Given the description of an element on the screen output the (x, y) to click on. 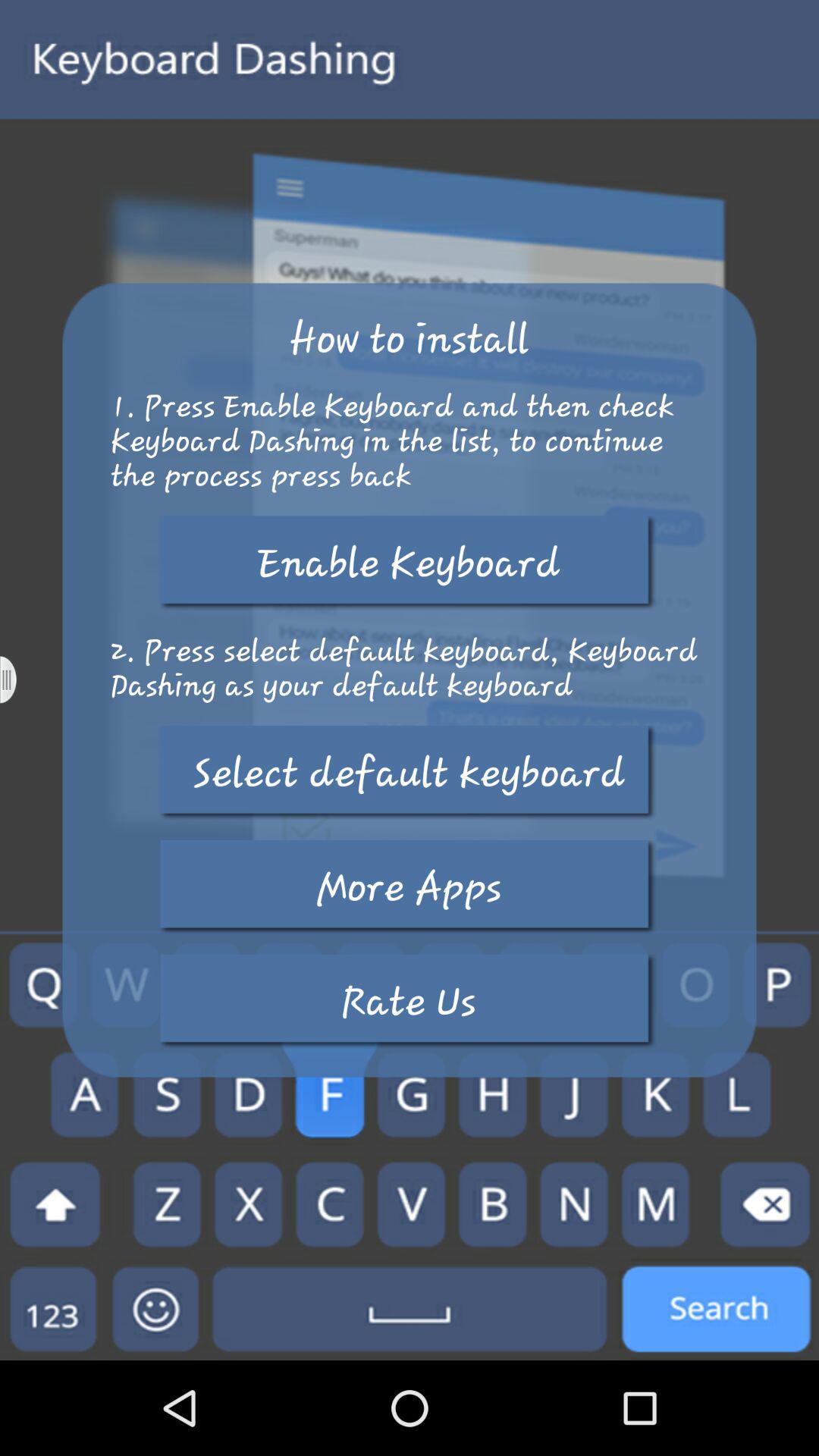
tap button below more apps icon (409, 1001)
